Given the description of an element on the screen output the (x, y) to click on. 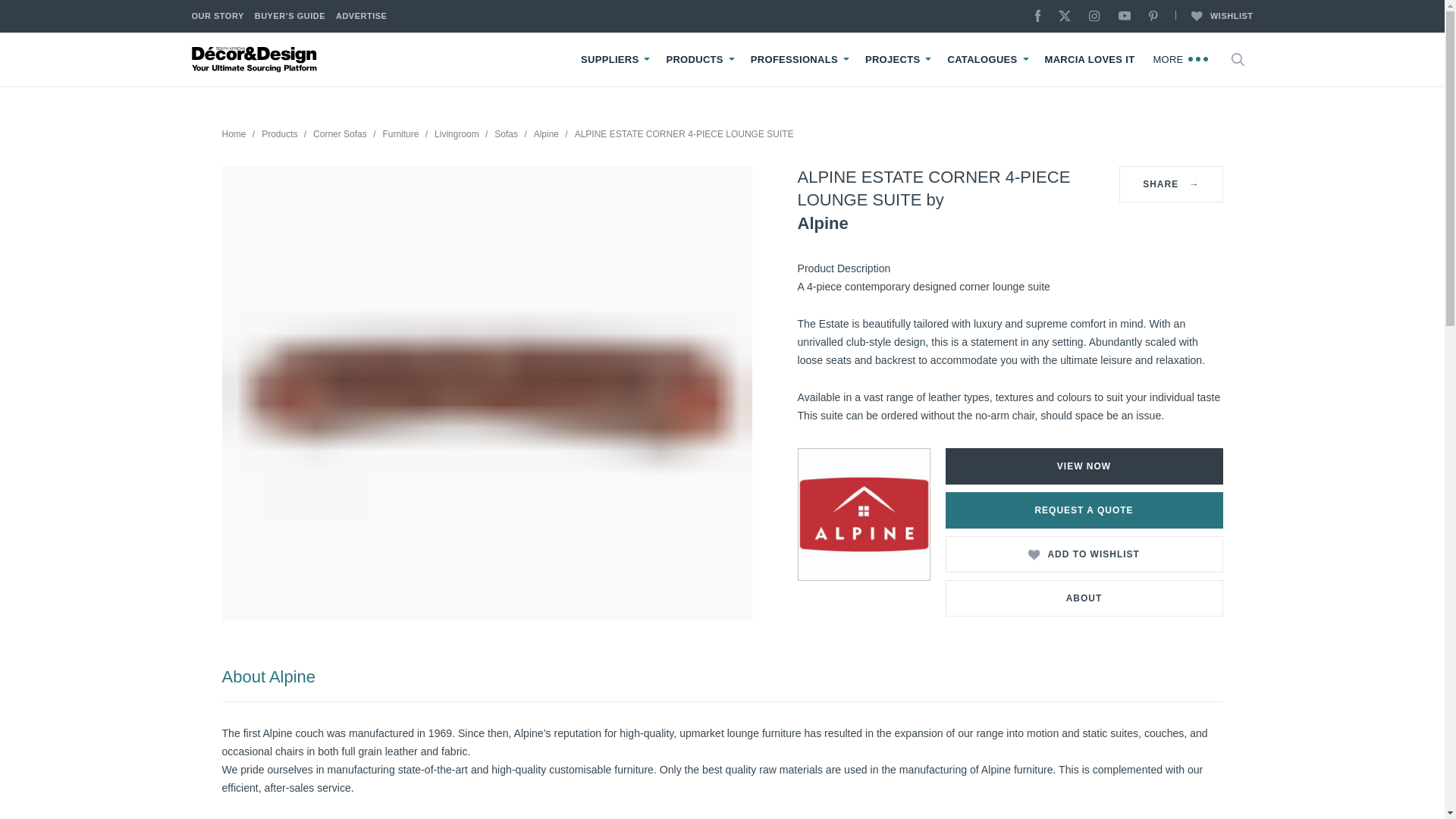
ADVERTISE (361, 16)
Logo (255, 58)
WISHLIST (1213, 16)
Alpine (862, 513)
OUR STORY (216, 16)
SUPPLIERS (609, 60)
